Given the description of an element on the screen output the (x, y) to click on. 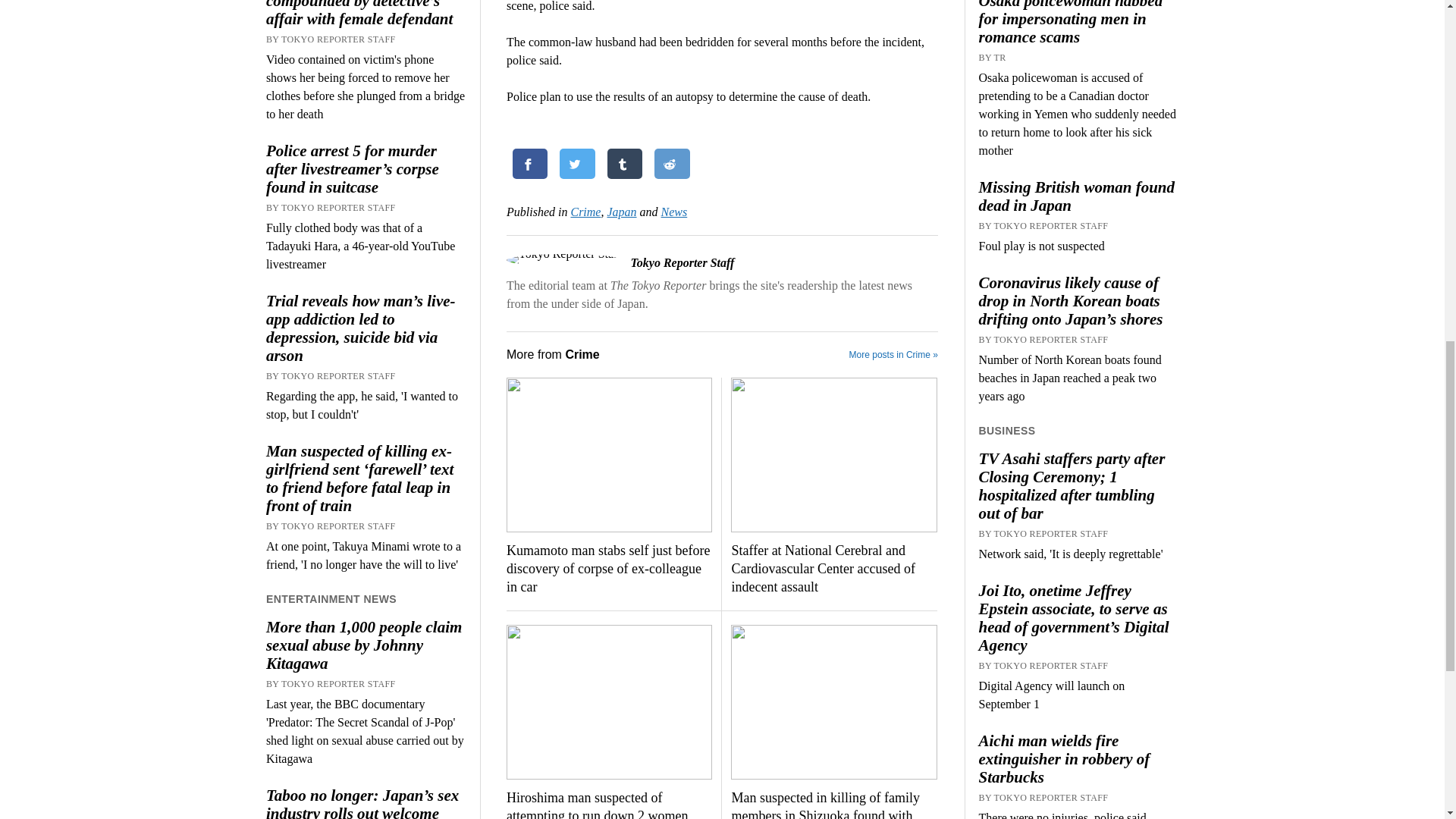
View all posts in Crime (584, 211)
View all posts in News (674, 211)
View all posts in Japan (621, 211)
